Given the description of an element on the screen output the (x, y) to click on. 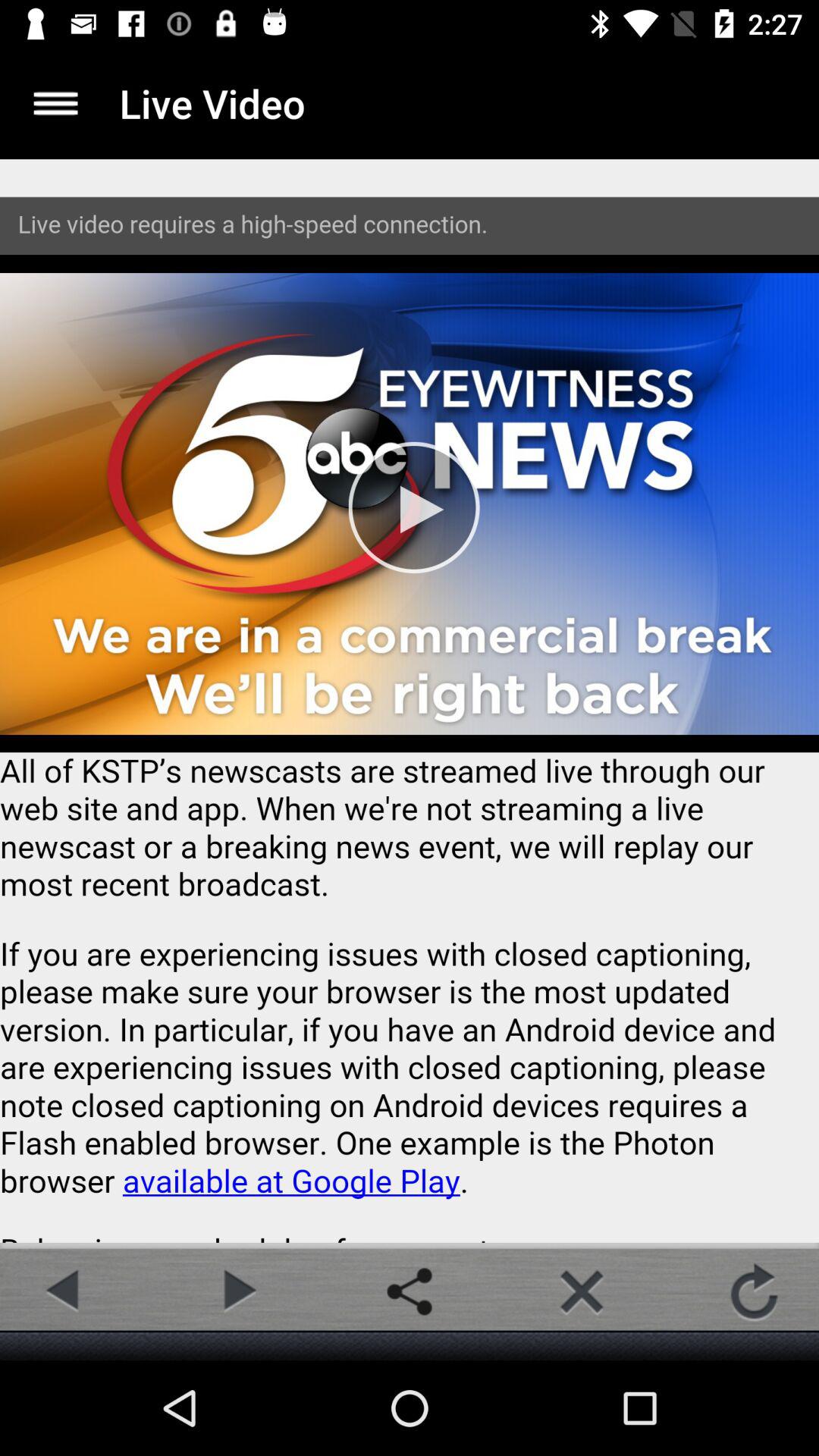
refresh (754, 1291)
